Given the description of an element on the screen output the (x, y) to click on. 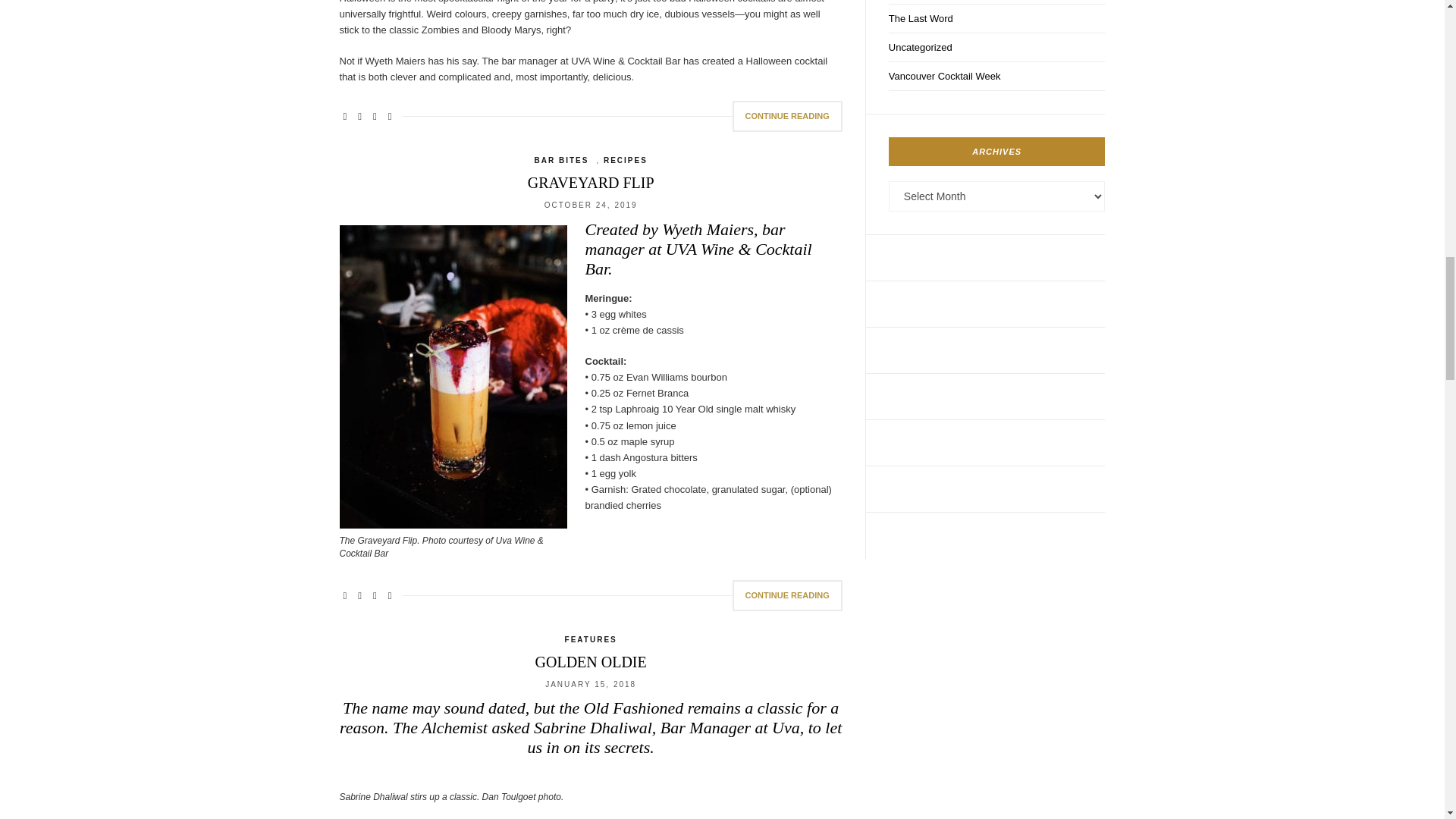
FEATURES (590, 639)
BAR BITES (561, 160)
CONTINUE READING (787, 594)
CONTINUE READING (787, 115)
RECIPES (625, 160)
GOLDEN OLDIE (590, 661)
GRAVEYARD FLIP (590, 182)
